Given the description of an element on the screen output the (x, y) to click on. 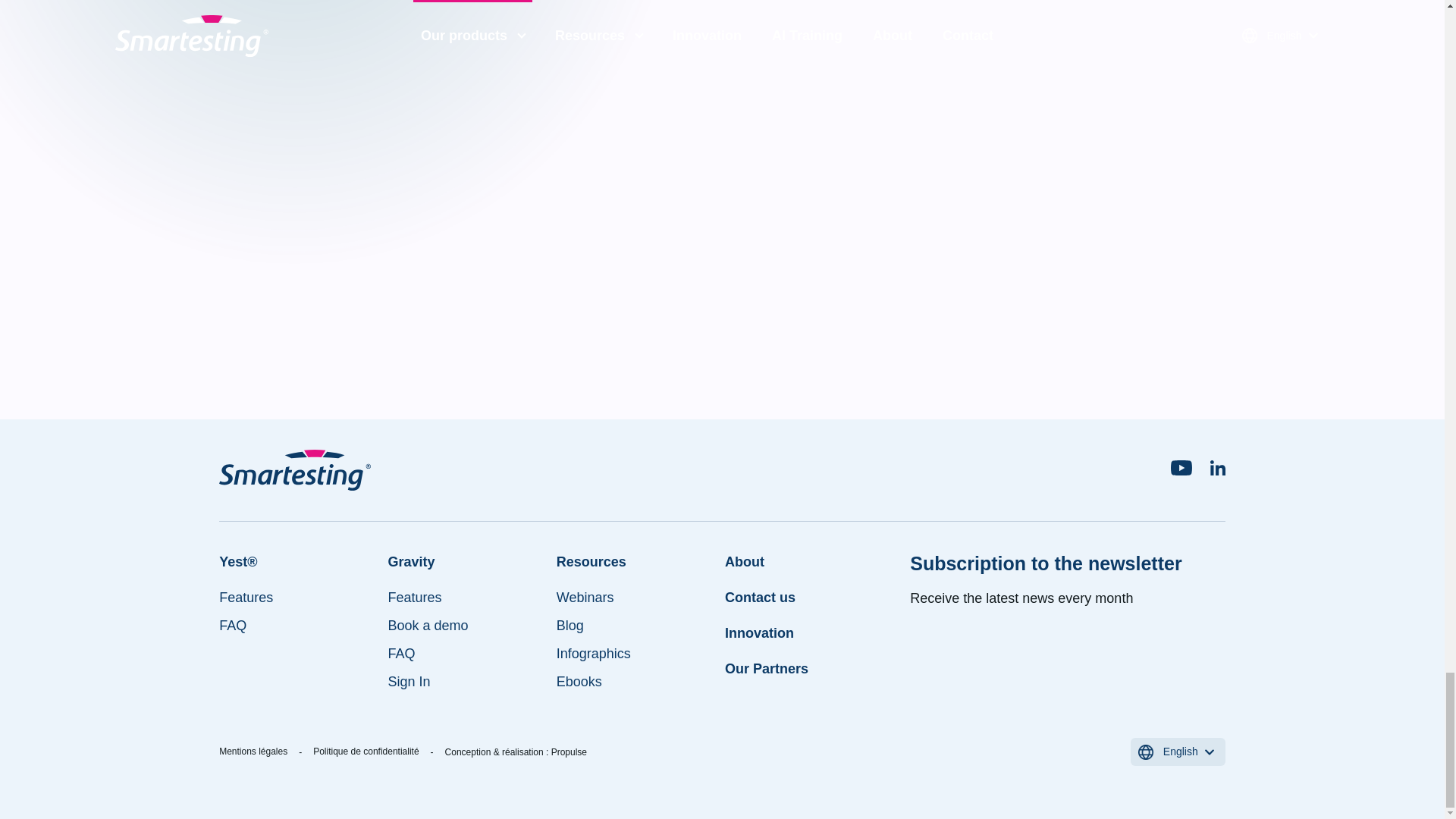
Sign In (464, 681)
FAQ (464, 653)
Gravity (464, 562)
Features (464, 598)
FAQ (296, 625)
Features (296, 598)
Resources (633, 562)
Book a demo (464, 625)
Webinars (633, 598)
